Given the description of an element on the screen output the (x, y) to click on. 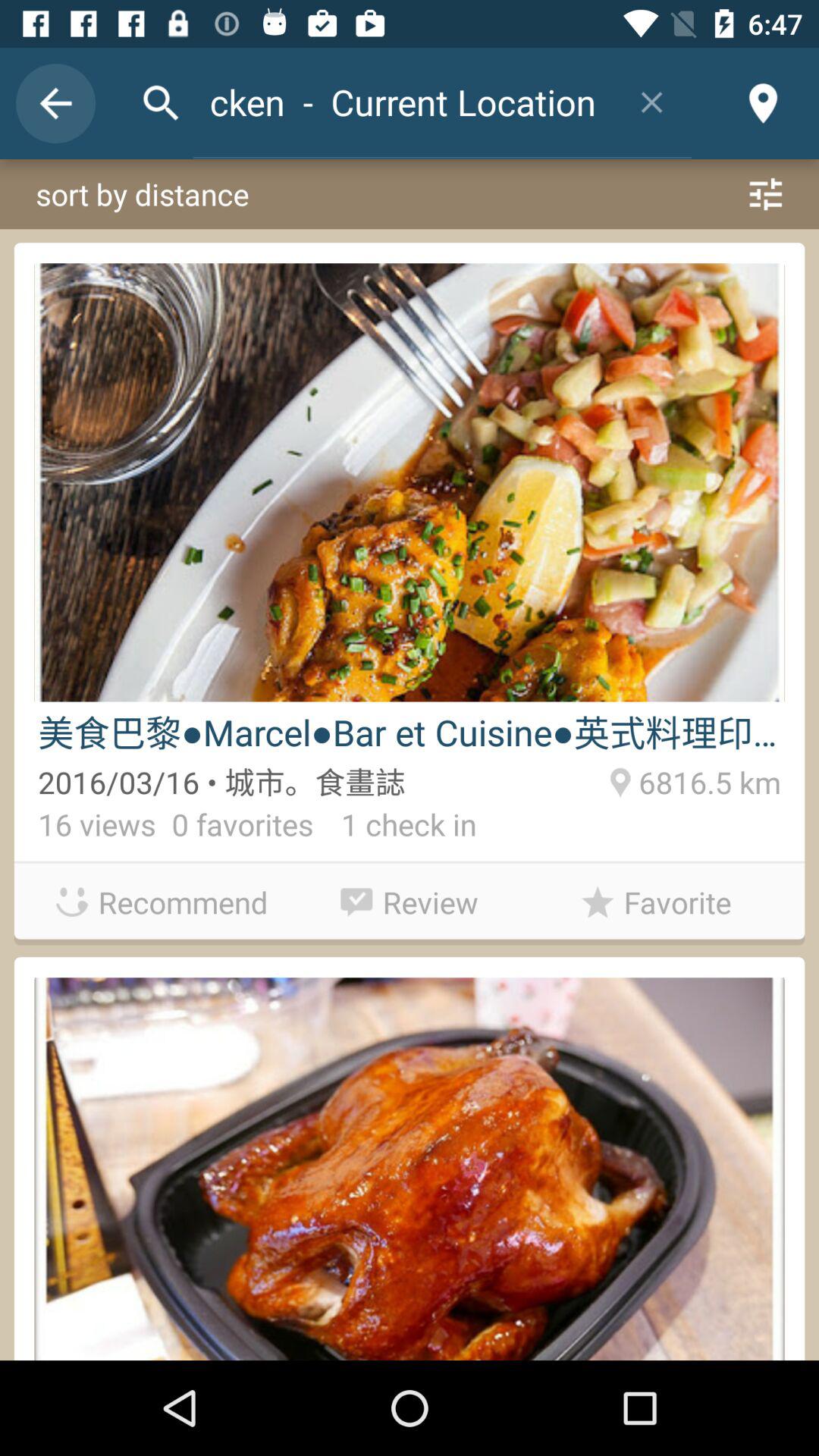
select the item next to review item (161, 902)
